Given the description of an element on the screen output the (x, y) to click on. 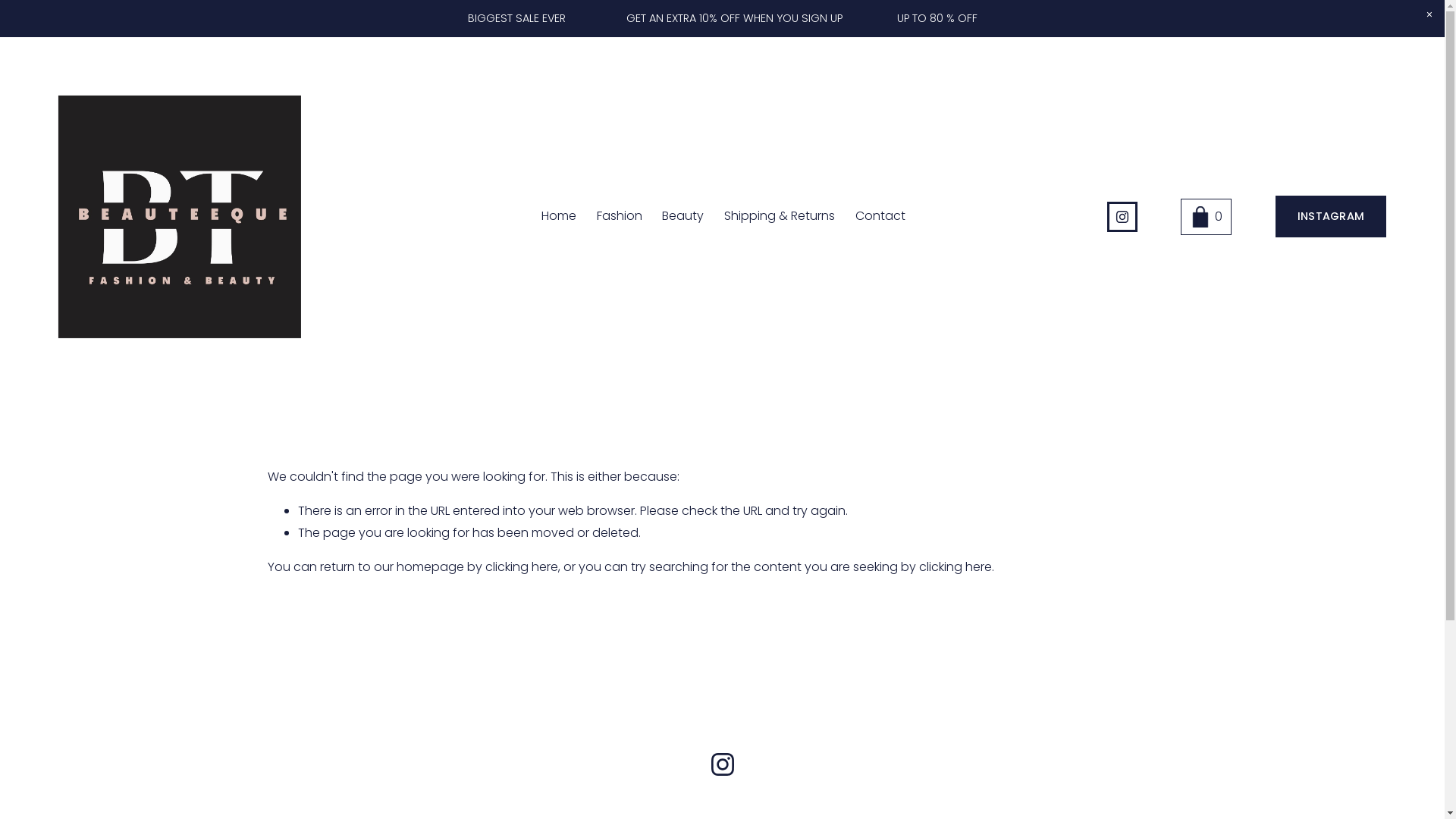
Beauty Element type: text (682, 216)
Home Element type: text (558, 216)
0 Element type: text (1205, 216)
Fashion Element type: text (619, 216)
clicking here Element type: text (955, 566)
Contact Element type: text (880, 216)
INSTAGRAM Element type: text (1330, 216)
clicking here Element type: text (521, 566)
Shipping & Returns Element type: text (779, 216)
